Given the description of an element on the screen output the (x, y) to click on. 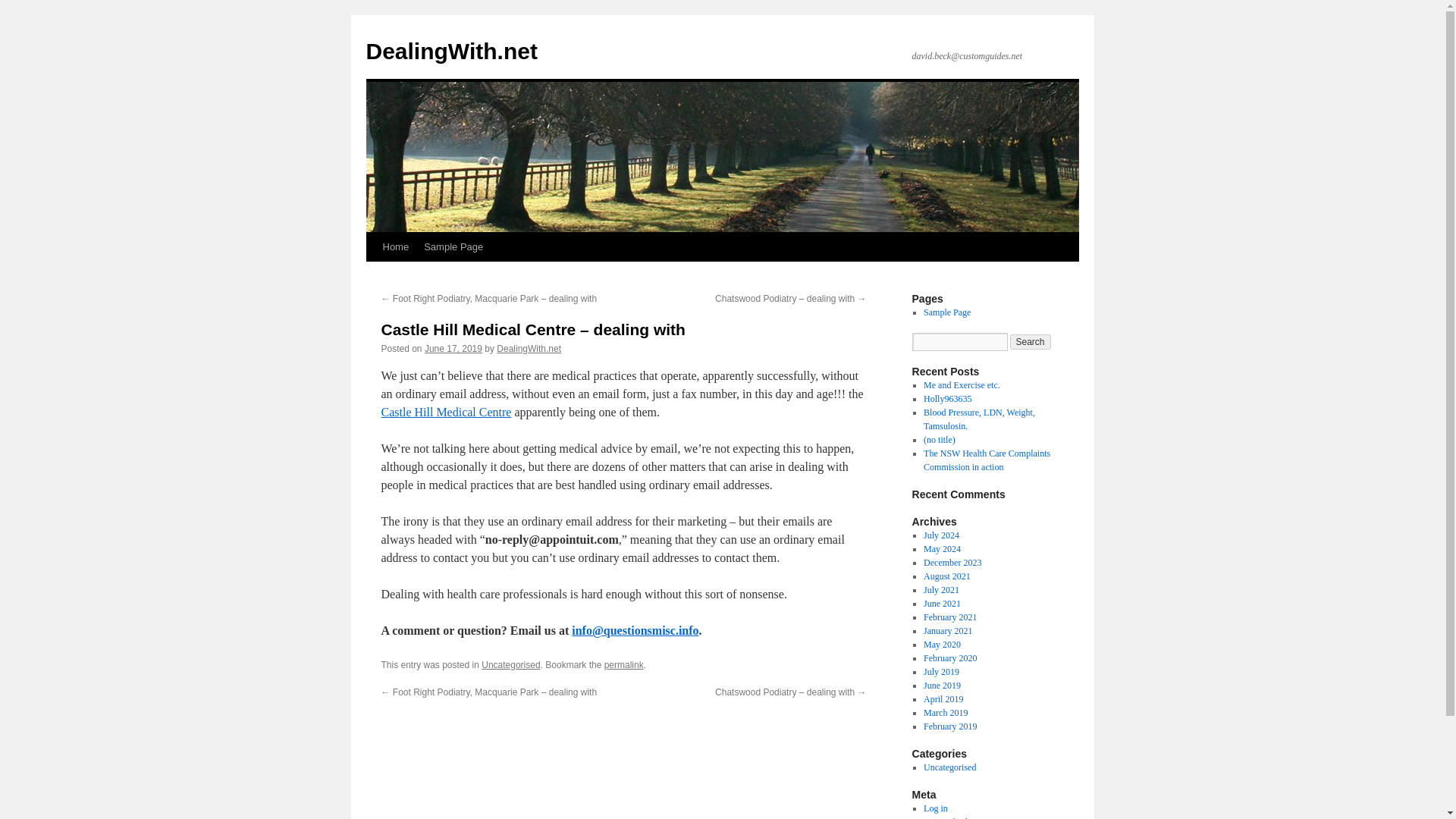
July 2019 (941, 671)
July 2021 (941, 589)
View all posts by DealingWith.net (528, 348)
Search (1030, 341)
DealingWith.net (528, 348)
Castle Hill Medical Centre (445, 411)
Me and Exercise etc. (961, 385)
11:41 pm (453, 348)
Sample Page (453, 246)
Uncategorised (510, 665)
